Given the description of an element on the screen output the (x, y) to click on. 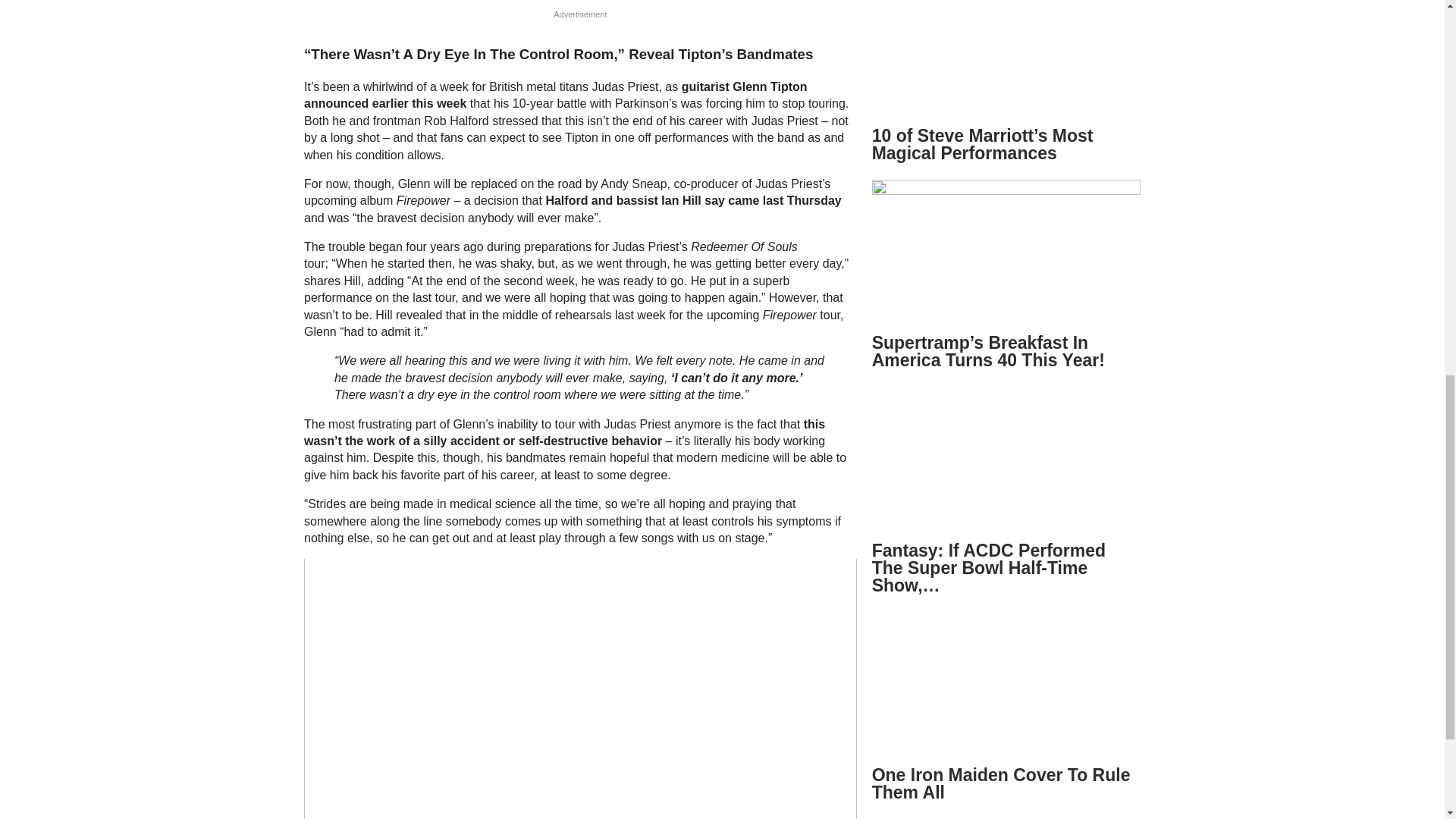
One Iron Maiden Cover To Rule Them All (1001, 783)
